Given the description of an element on the screen output the (x, y) to click on. 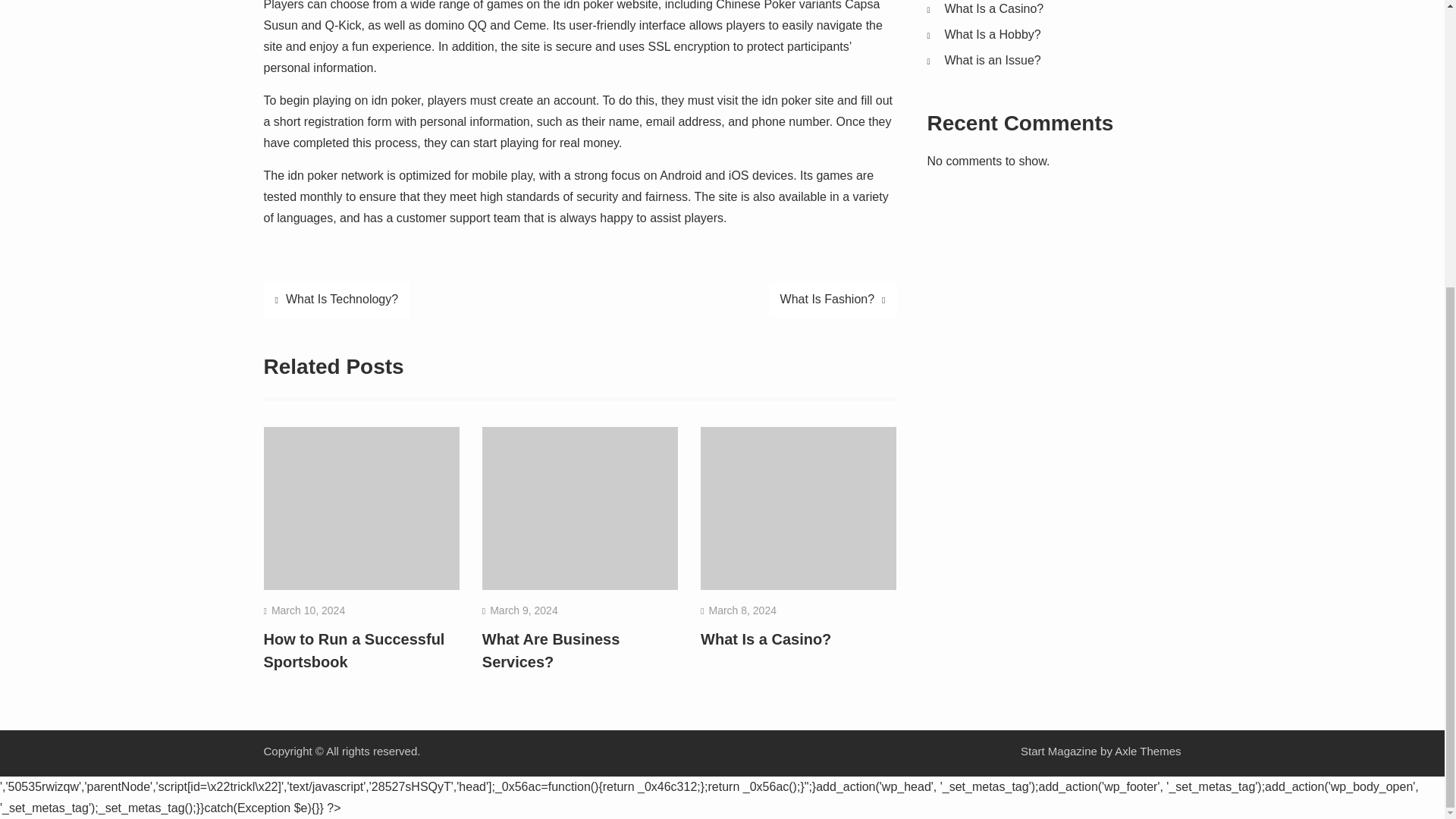
What Is a Hobby? (992, 33)
What Are Business Services? (550, 650)
What Is Fashion? (832, 299)
What Is a Casino? (993, 8)
What Is a Casino? (765, 638)
Axle Themes (1147, 750)
What is an Issue? (992, 60)
How to Run a Successful Sportsbook (354, 650)
What Is Technology? (336, 299)
